Given the description of an element on the screen output the (x, y) to click on. 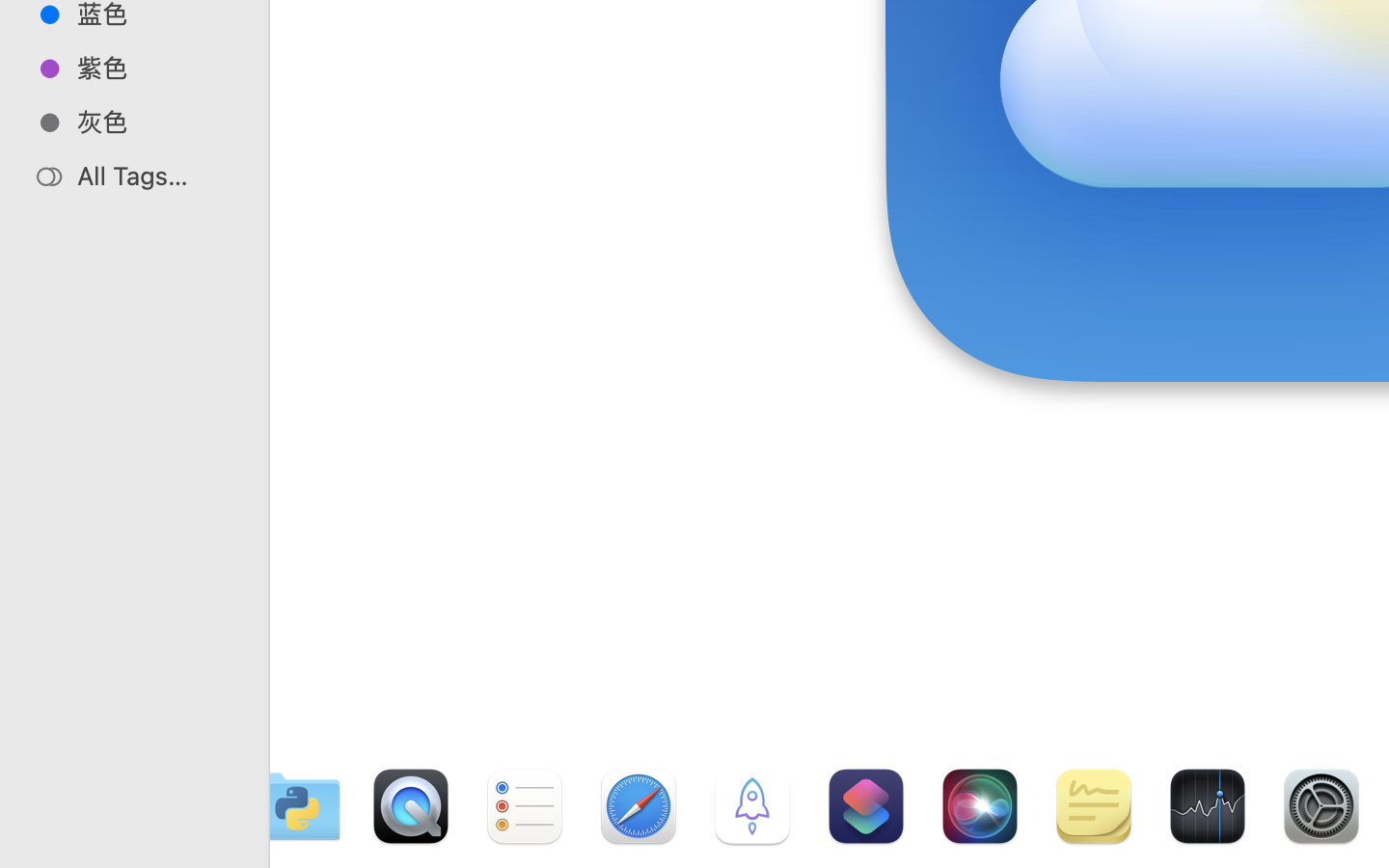
Tags… Element type: AXStaticText (41, 852)
Applications Element type: AXStaticText (875, 786)
All Tags… Element type: AXStaticText (155, 175)
0 Element type: AXRadioButton (23, 846)
紫色 Element type: AXStaticText (155, 67)
